Given the description of an element on the screen output the (x, y) to click on. 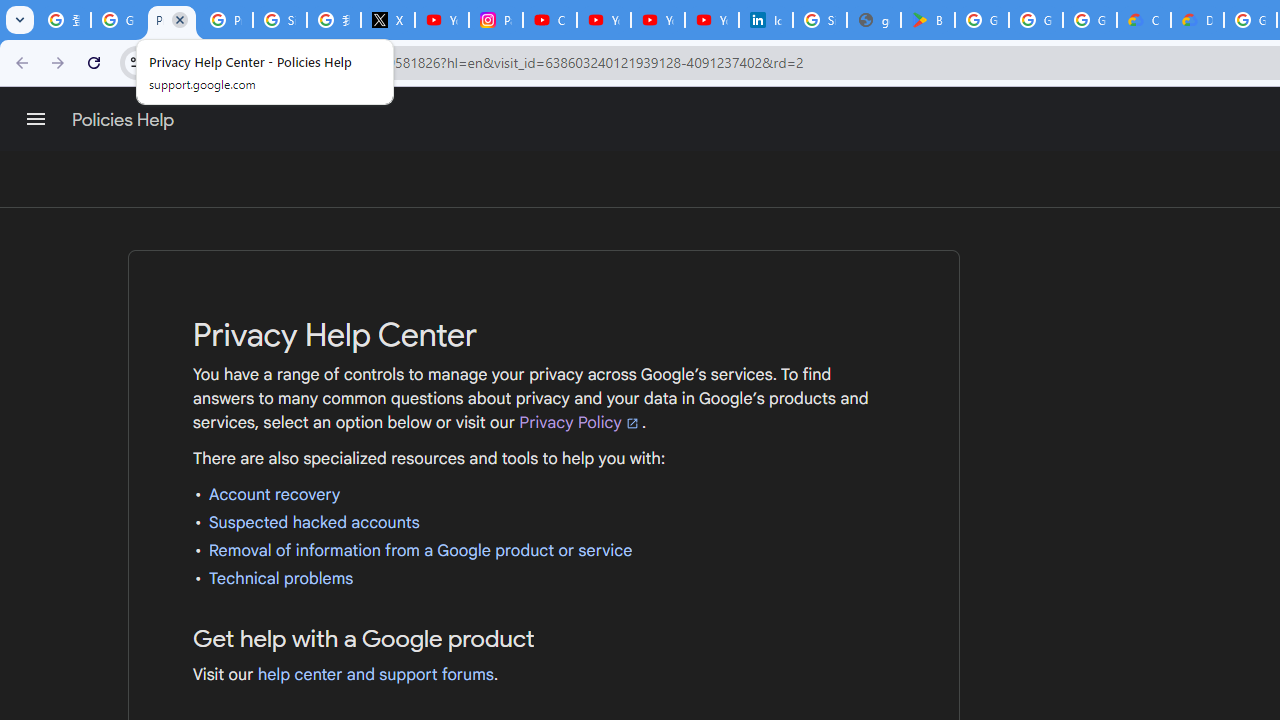
Sign in - Google Accounts (280, 20)
X (387, 20)
Removal of information from a Google product or service (420, 550)
Privacy Help Center - Policies Help (225, 20)
YouTube Culture & Trends - YouTube Top 10, 2021 (657, 20)
Bluey: Let's Play! - Apps on Google Play (927, 20)
Sign in - Google Accounts (819, 20)
Technical problems (281, 578)
